Given the description of an element on the screen output the (x, y) to click on. 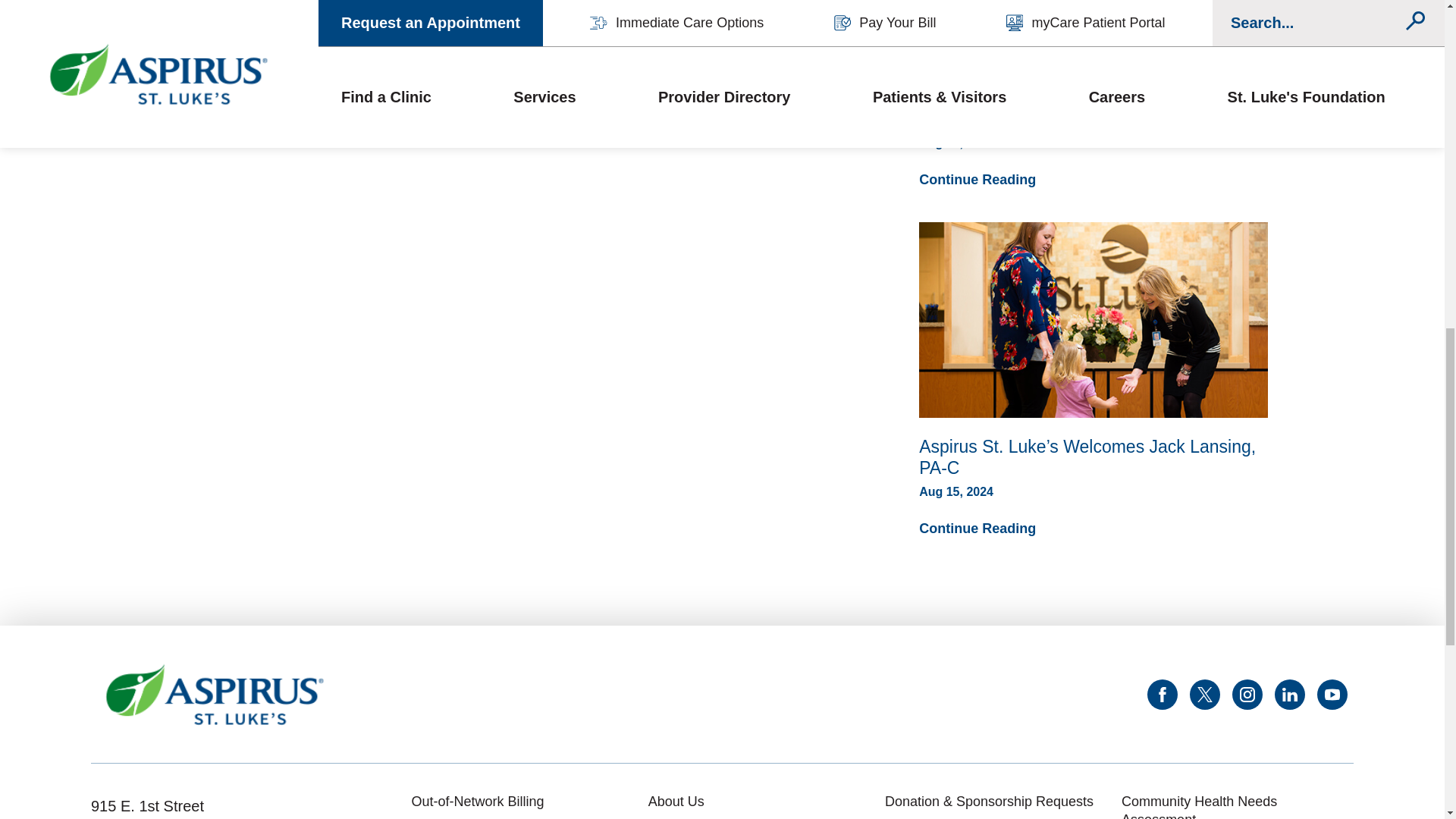
LinkedIn (1289, 694)
YouTube (1332, 694)
Facebook (1162, 694)
Aspirus St. Luke's (214, 694)
Twitter (1204, 694)
Instagram (1246, 694)
